Given the description of an element on the screen output the (x, y) to click on. 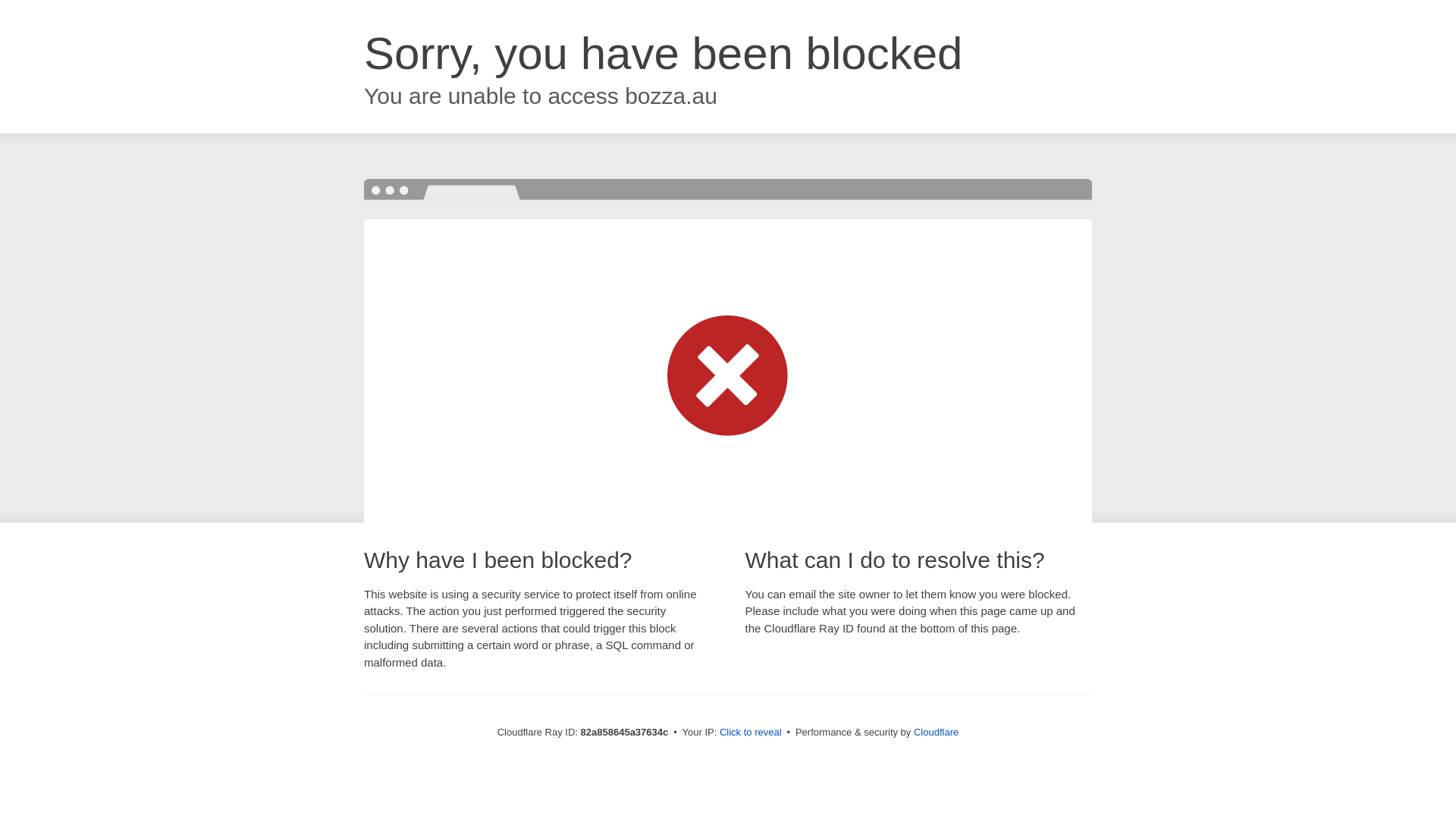
Cloudflare Element type: text (935, 731)
Click to reveal Element type: text (750, 732)
